Given the description of an element on the screen output the (x, y) to click on. 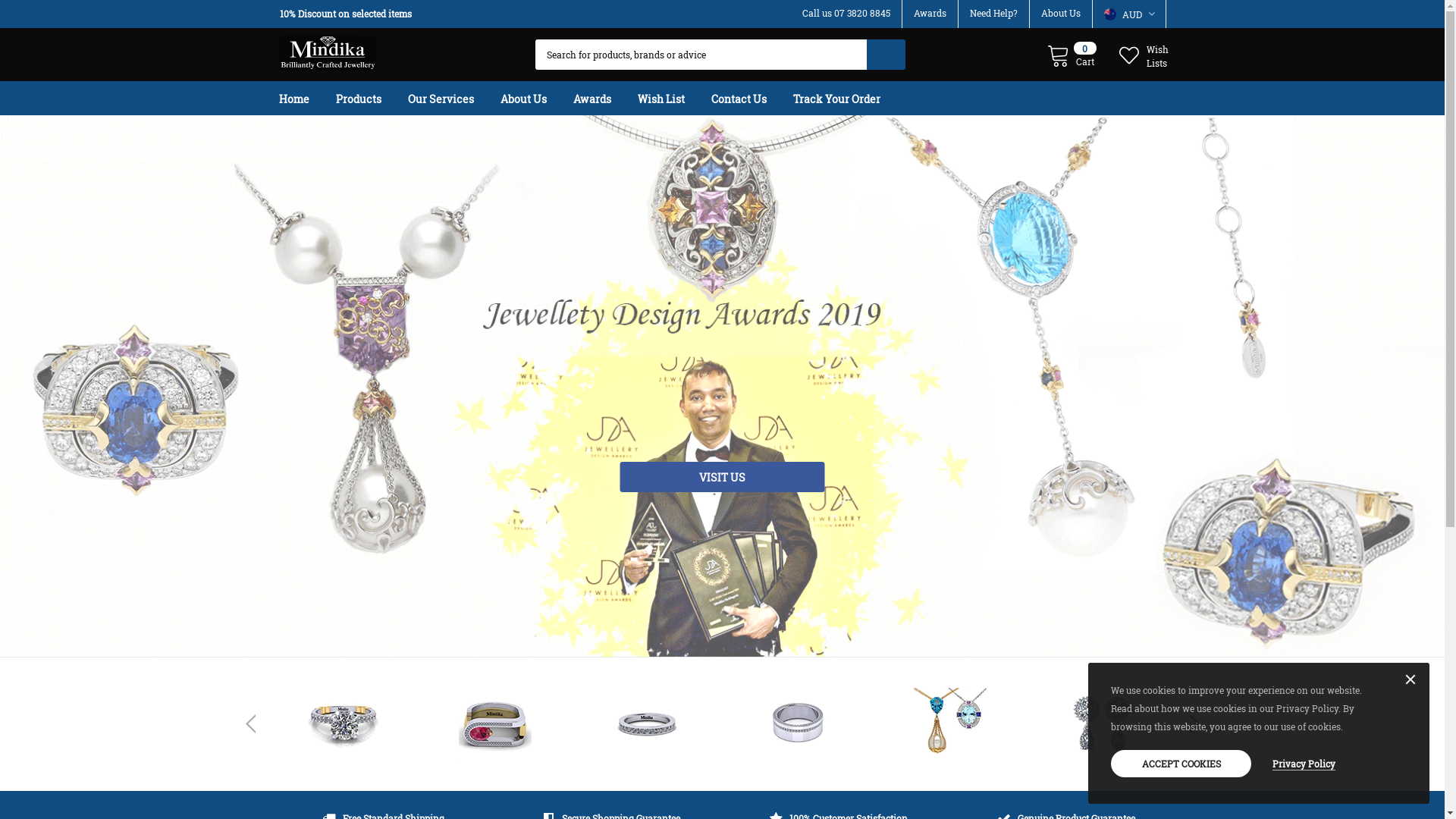
Contact Us Element type: text (750, 98)
0
Cart Element type: text (1071, 54)
Logo Element type: hover (327, 49)
ACCEPT COOKIES Element type: text (1180, 763)
Awards Element type: text (604, 98)
logo brand Element type: hover (646, 723)
Privacy Policy Element type: text (1303, 763)
Track Your Order Element type: text (848, 98)
Awards Element type: text (929, 12)
logo brand Element type: hover (494, 723)
Need Help? Element type: text (992, 12)
Products Element type: text (369, 98)
logo brand Element type: hover (343, 723)
Our Services Element type: text (452, 98)
Home Element type: text (306, 98)
Call us 07 3820 8845 Element type: text (846, 12)
logo brand Element type: hover (1101, 723)
logo brand Element type: hover (798, 723)
About Us Element type: text (535, 98)
Wish List Element type: text (672, 98)
VISIT US Element type: text (722, 476)
Wish Lists Element type: text (1144, 54)
Close Element type: hover (1410, 679)
About Us Element type: text (1059, 12)
logo brand Element type: hover (949, 723)
